Given the description of an element on the screen output the (x, y) to click on. 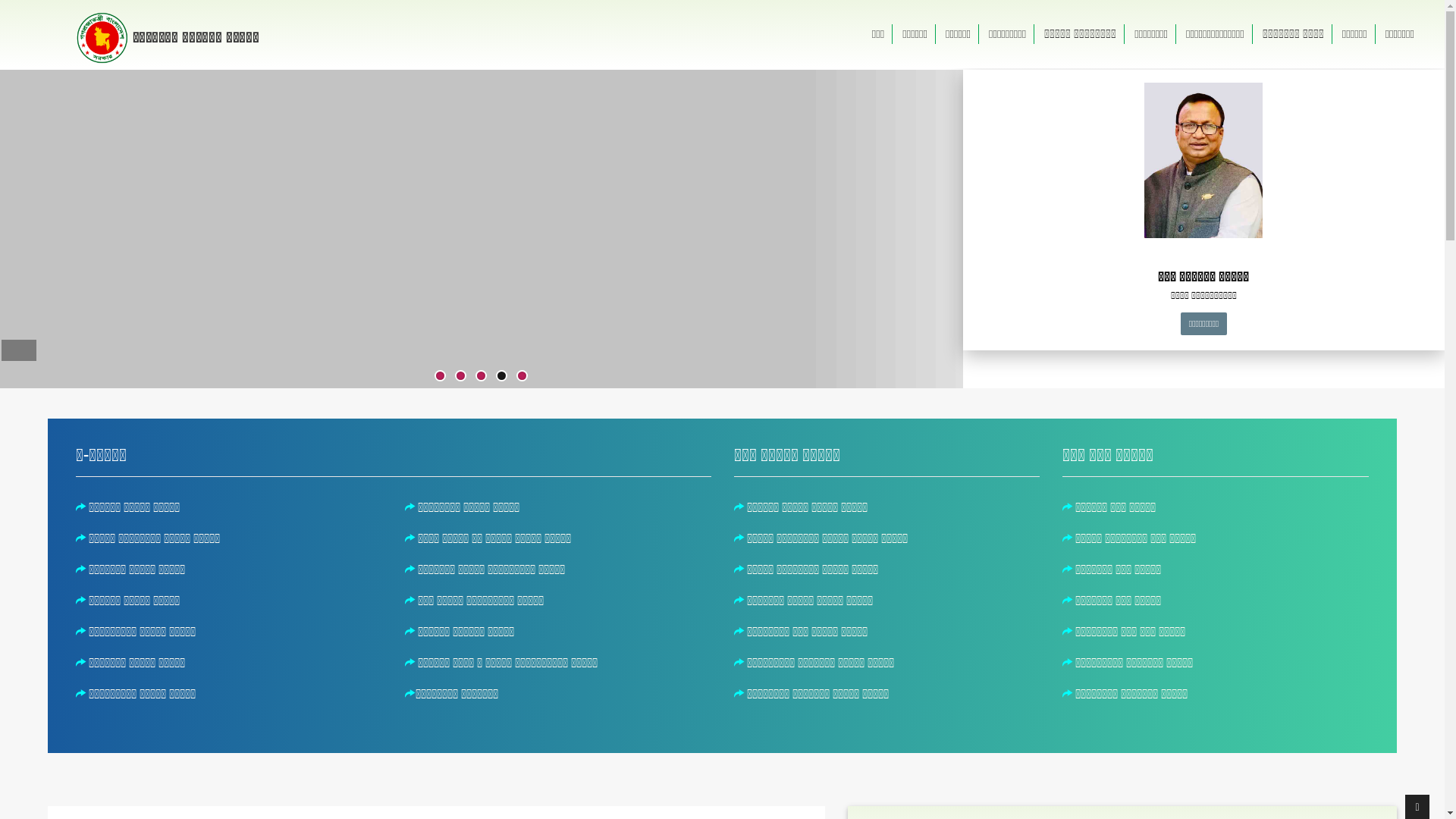
1 Element type: text (440, 375)
2 Element type: text (460, 375)
4 Element type: text (501, 375)
3 Element type: text (480, 375)
5 Element type: text (521, 375)
